Given the description of an element on the screen output the (x, y) to click on. 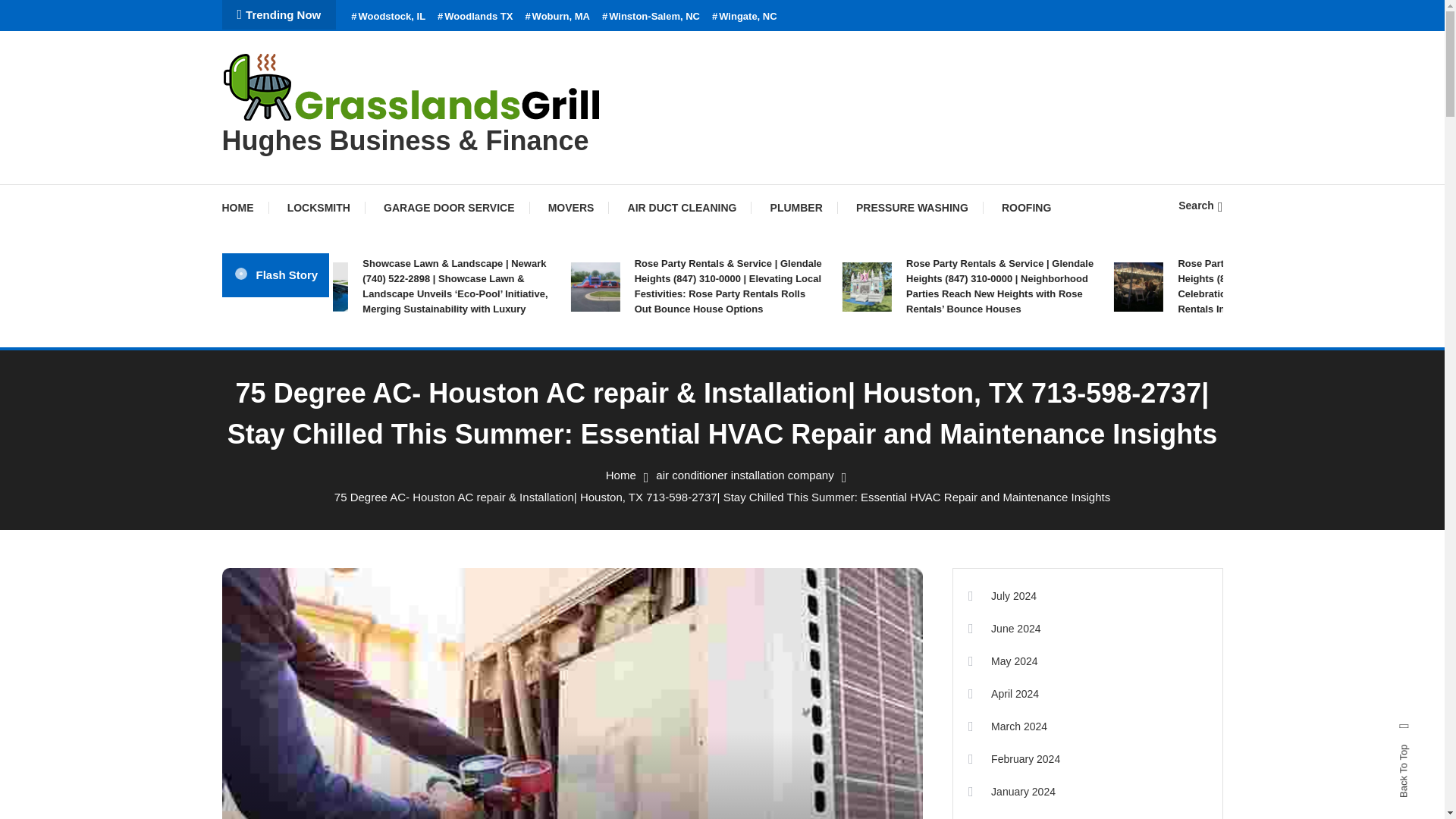
GARAGE DOOR SERVICE (448, 207)
air conditioner installation company (744, 474)
Woburn, MA (556, 16)
HOME (244, 207)
ROOFING (1026, 207)
Wingate, NC (744, 16)
Woodstock, IL (387, 16)
Home (620, 474)
Search (1200, 205)
PRESSURE WASHING (912, 207)
Winston-Salem, NC (651, 16)
MOVERS (571, 207)
LOCKSMITH (318, 207)
PLUMBER (796, 207)
AIR DUCT CLEANING (682, 207)
